Given the description of an element on the screen output the (x, y) to click on. 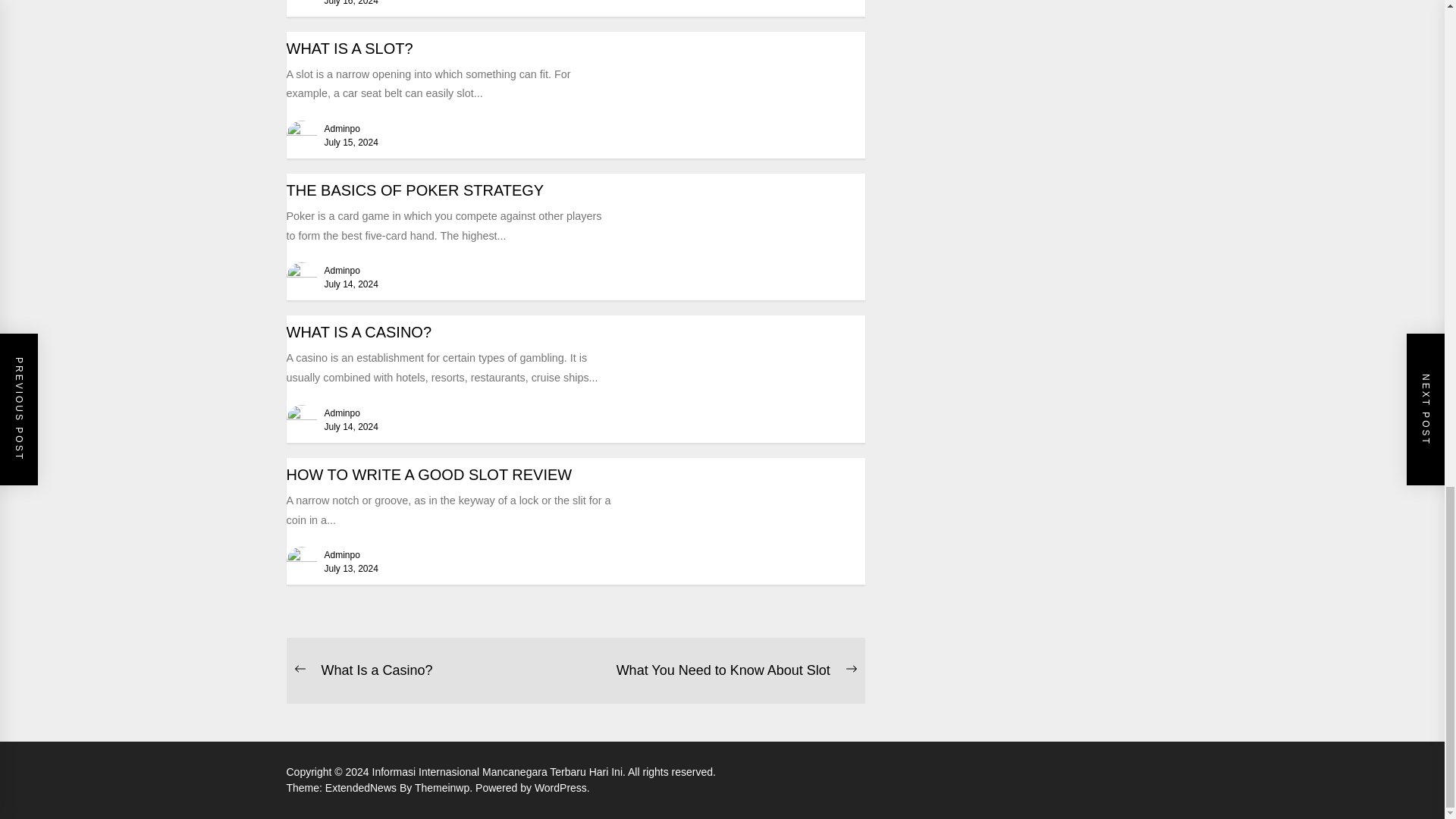
Informasi Internasional Mancanegara Terbaru Hari Ini (499, 771)
Themeinwp (445, 787)
WordPress (561, 787)
